Given the description of an element on the screen output the (x, y) to click on. 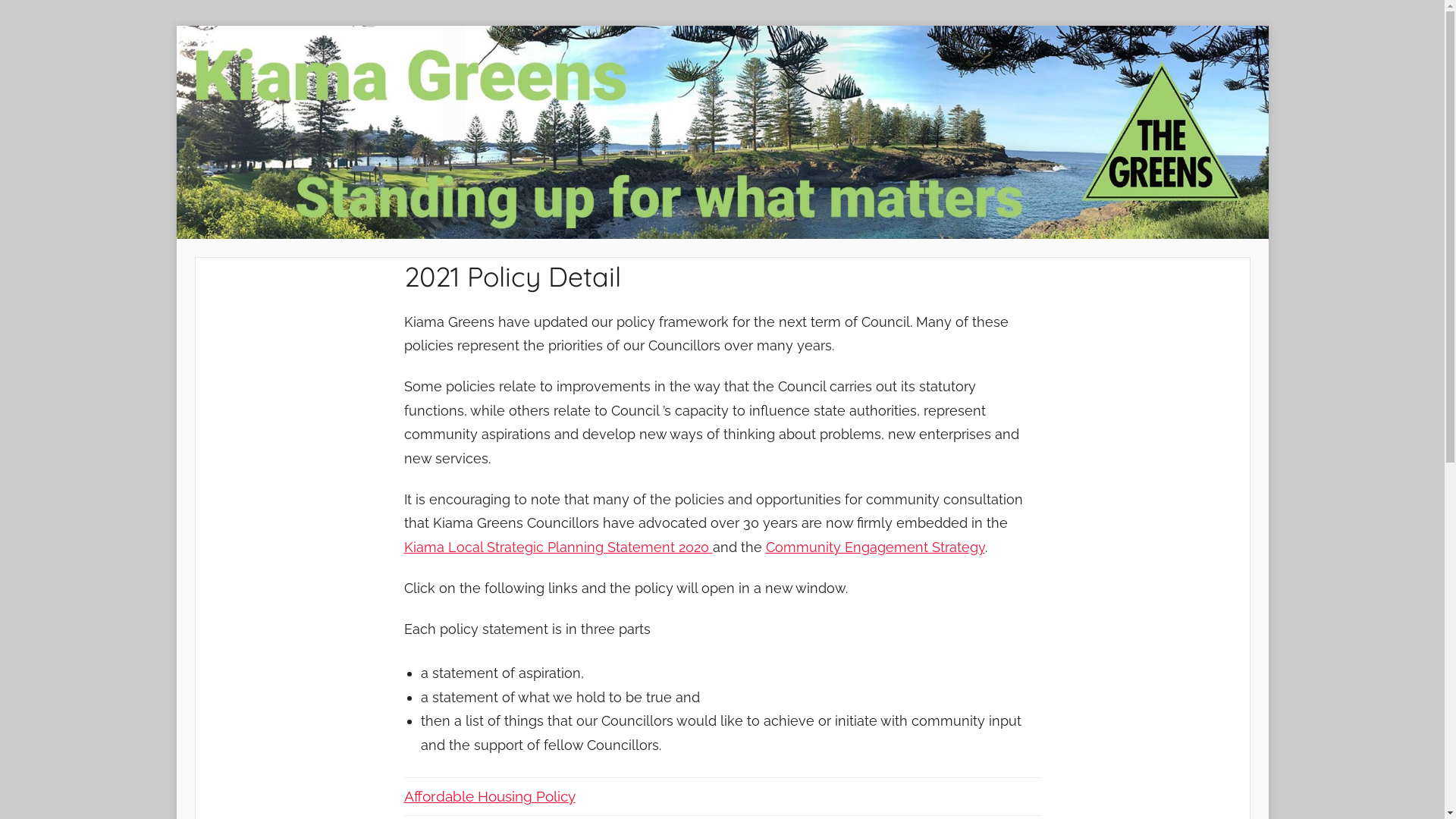
Skip to content Element type: text (175, 25)
Affordable Housing Policy Element type: text (488, 795)
Community Engagement Strategy Element type: text (875, 547)
Kiama Local Strategic Planning Statement 2020 Element type: text (557, 547)
